Given the description of an element on the screen output the (x, y) to click on. 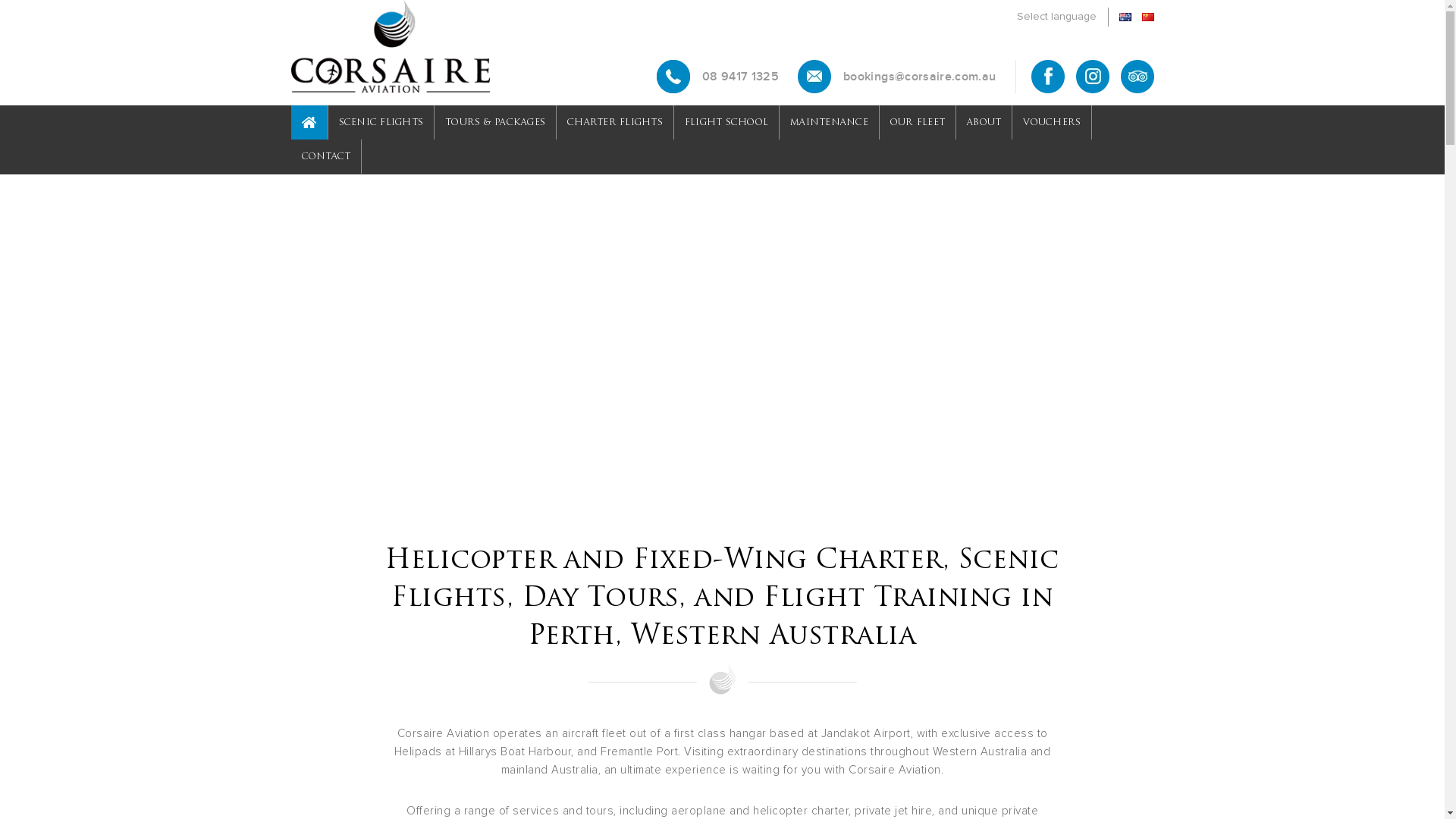
bookings@corsaire.com.au Element type: text (896, 76)
SCENIC FLIGHTS Element type: text (380, 122)
08 9417 1325 Element type: text (717, 76)
VOUCHERS Element type: text (1051, 122)
ABOUT Element type: text (983, 122)
OUR FLEET Element type: text (917, 122)
CONTACT Element type: text (326, 156)
CHARTER FLIGHTS Element type: text (614, 122)
MAINTENANCE Element type: text (828, 122)
FLIGHT SCHOOL Element type: text (726, 122)
HOME Element type: text (309, 122)
TOURS & PACKAGES Element type: text (494, 122)
